Given the description of an element on the screen output the (x, y) to click on. 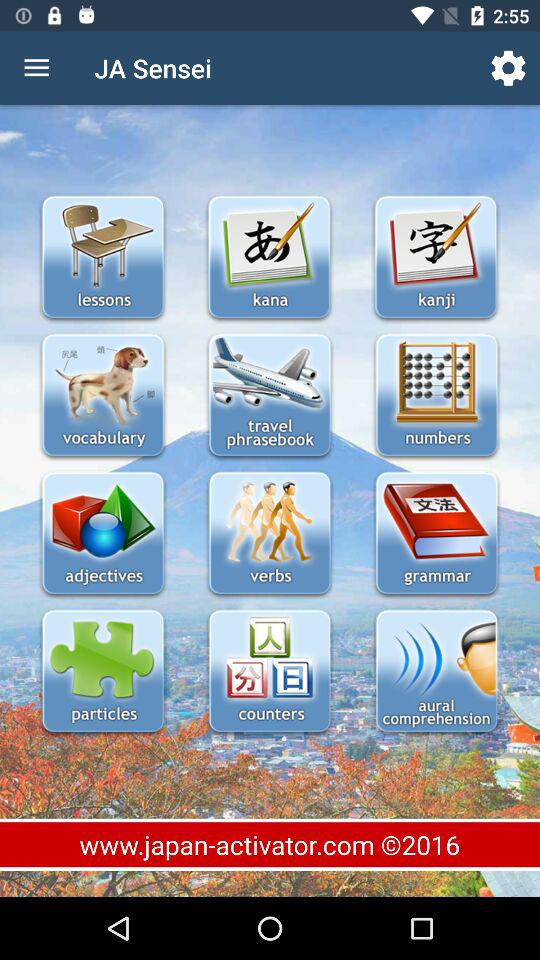
would open counters (269, 672)
